Given the description of an element on the screen output the (x, y) to click on. 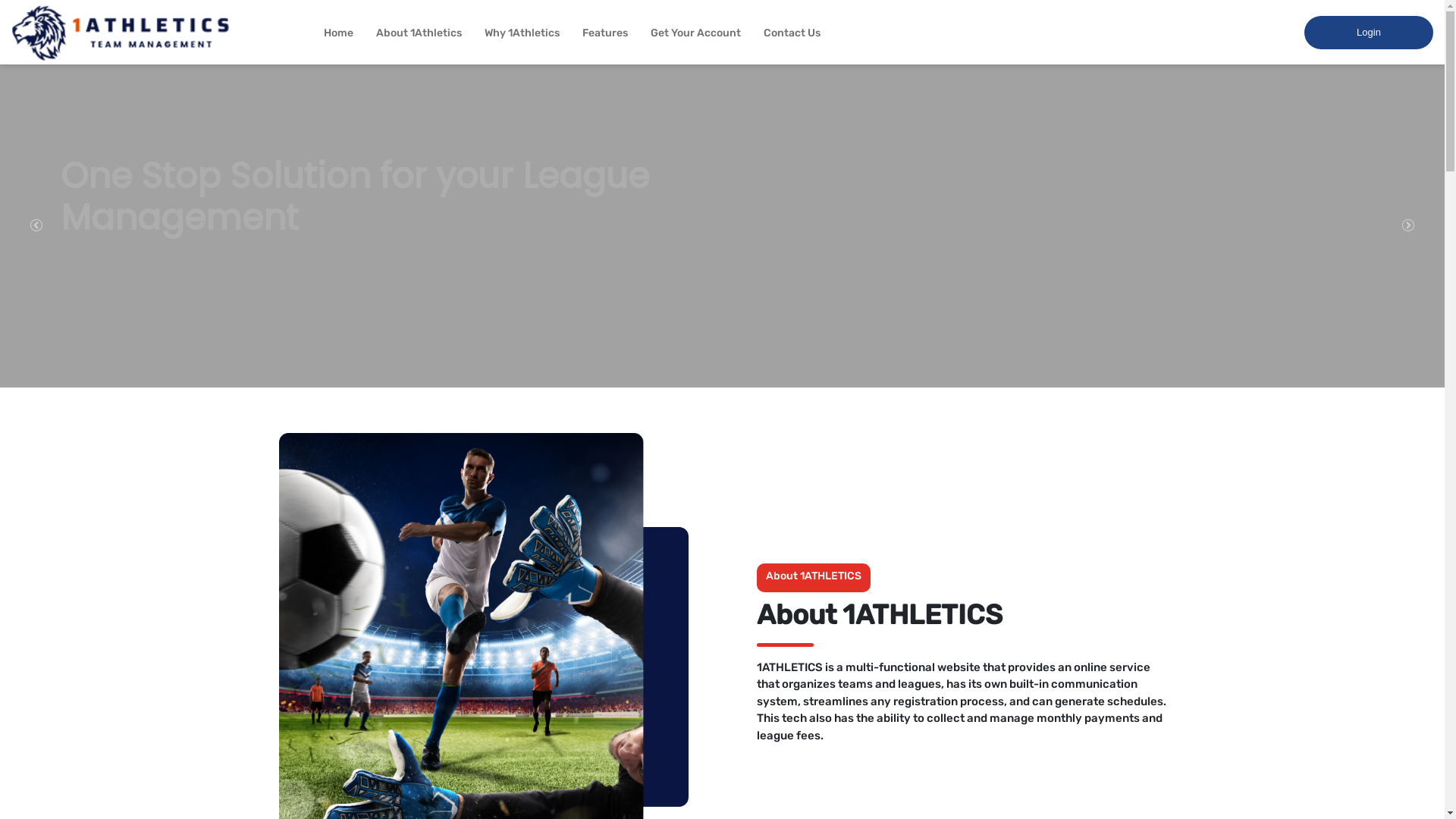
Previous Element type: text (36, 225)
Next Element type: text (1408, 225)
One Stop Solution for your League Management Element type: text (406, 196)
Get Your Account Element type: text (695, 33)
Contact Us Element type: text (791, 33)
Login Element type: text (1368, 32)
About 1Athletics Element type: text (418, 33)
Features Element type: text (605, 33)
Why 1Athletics Element type: text (522, 33)
Home Element type: text (338, 33)
